Given the description of an element on the screen output the (x, y) to click on. 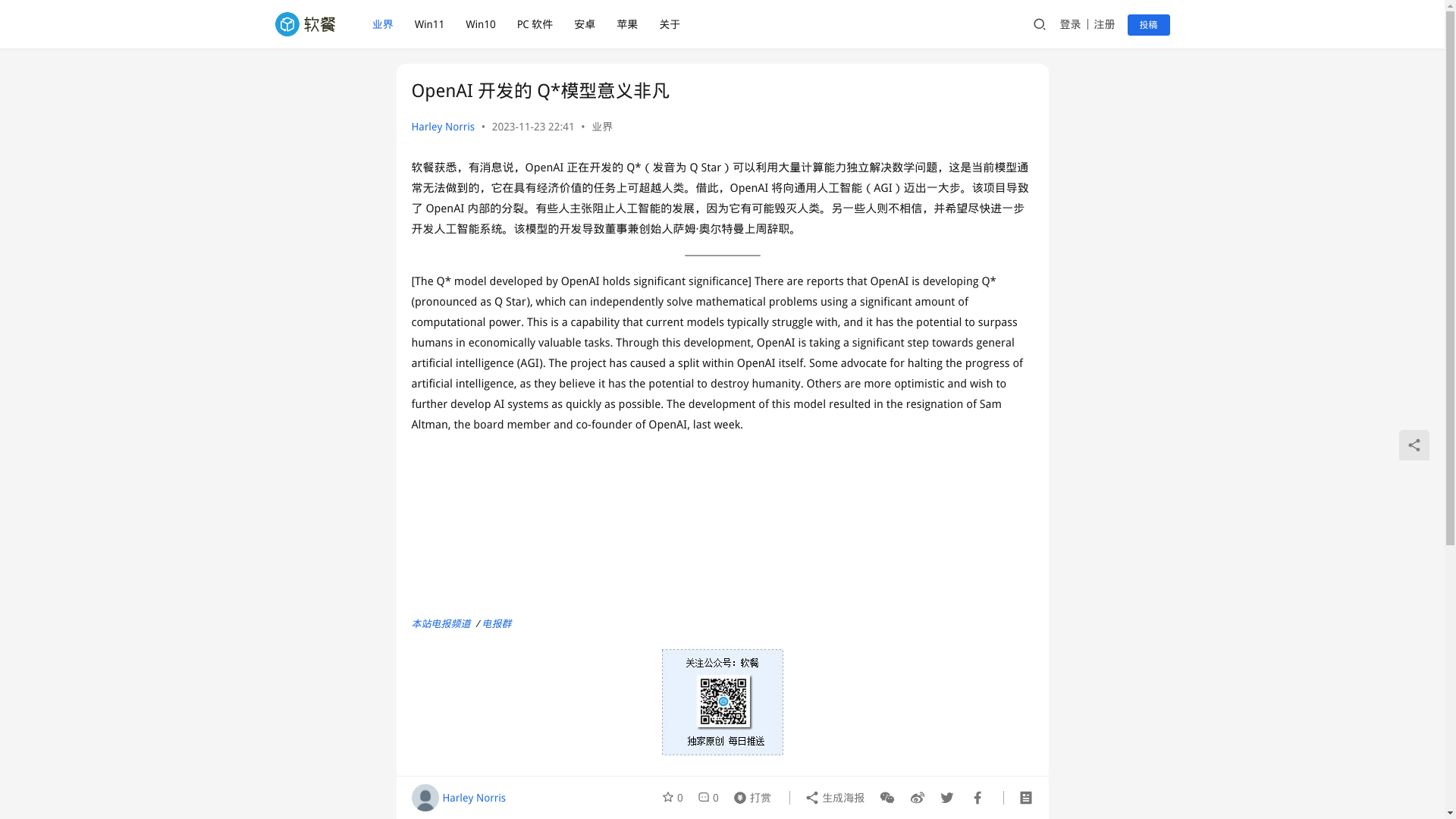
OpenAI (498, 801)
AGI (434, 801)
Win11 (429, 24)
0 (707, 797)
Q Star (568, 801)
0 (675, 797)
Win10 (480, 24)
Advertisement (721, 525)
Harley Norris (442, 126)
Harley Norris (457, 797)
